Given the description of an element on the screen output the (x, y) to click on. 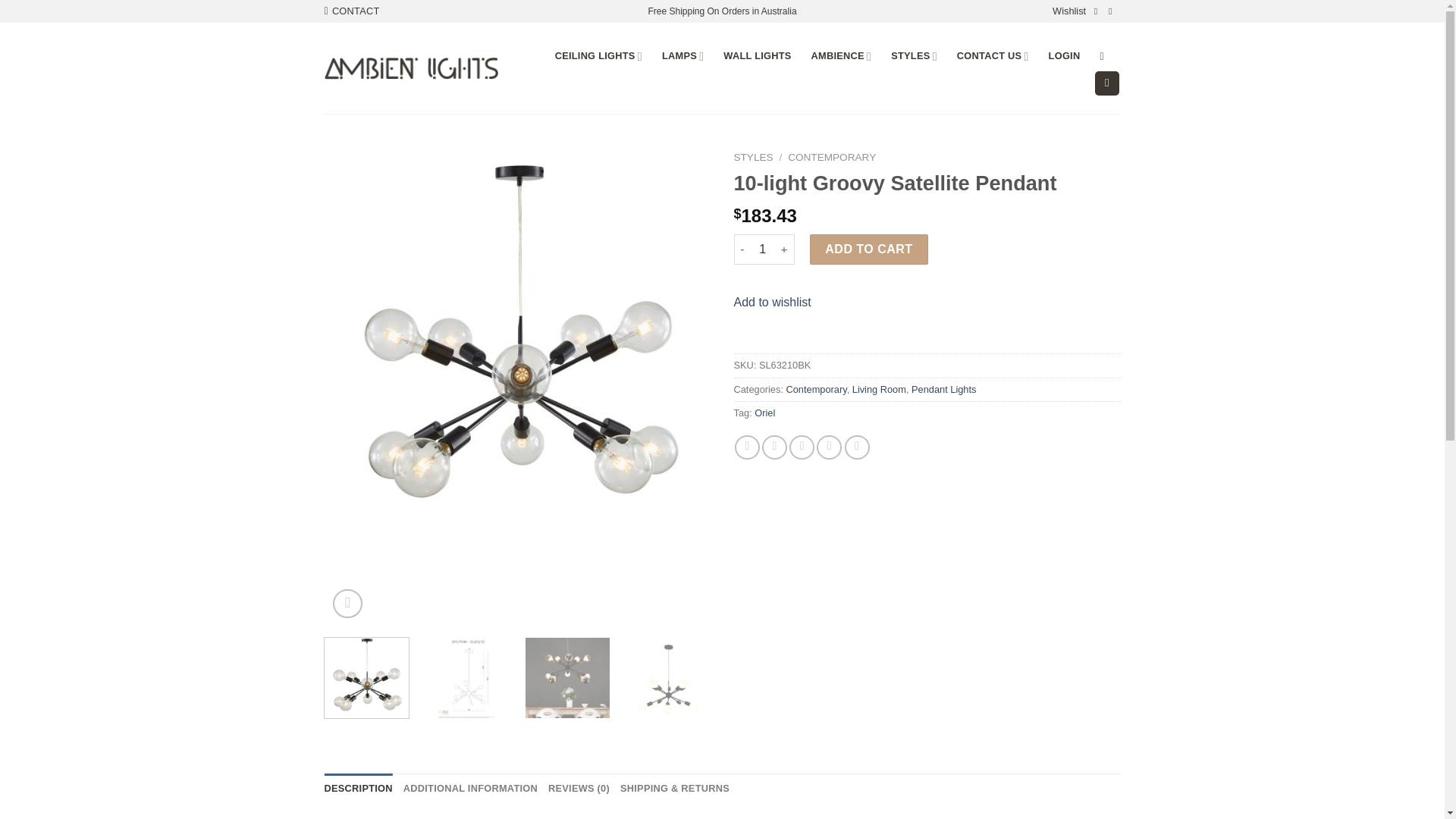
Email to a Friend (801, 447)
Share on Facebook (747, 447)
LAMPS (682, 56)
Cart (1106, 83)
CEILING LIGHTS (598, 56)
CONTACT US (992, 56)
Ambient Lights (410, 68)
Pin on Pinterest (828, 447)
Share on Twitter (774, 447)
Share on LinkedIn (856, 447)
LOGIN (1064, 55)
Zoom (347, 603)
PayPal (927, 332)
CONTACT (352, 11)
